Given the description of an element on the screen output the (x, y) to click on. 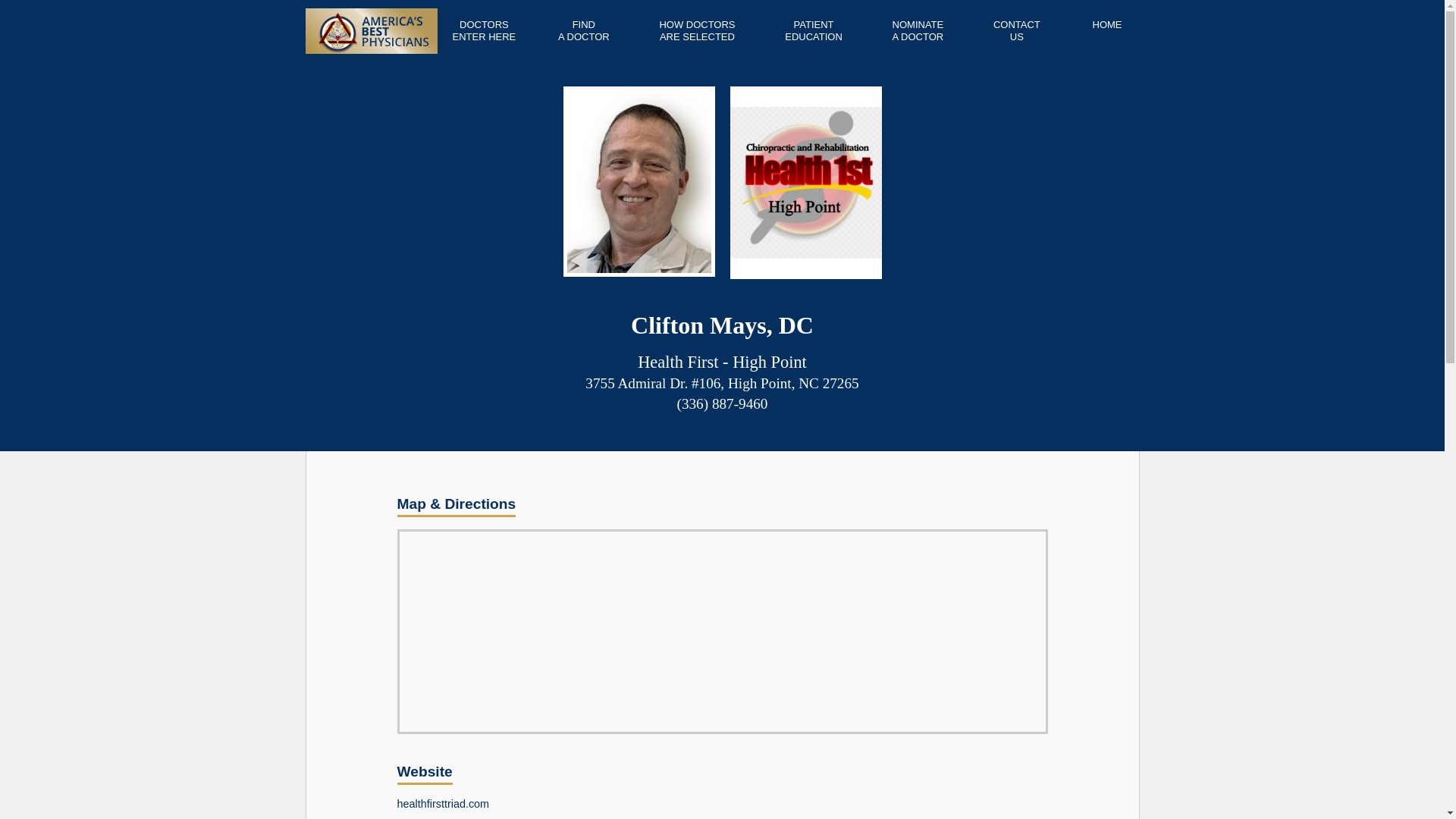
healthfirsttriad.com (443, 803)
HOME (1016, 30)
